Given the description of an element on the screen output the (x, y) to click on. 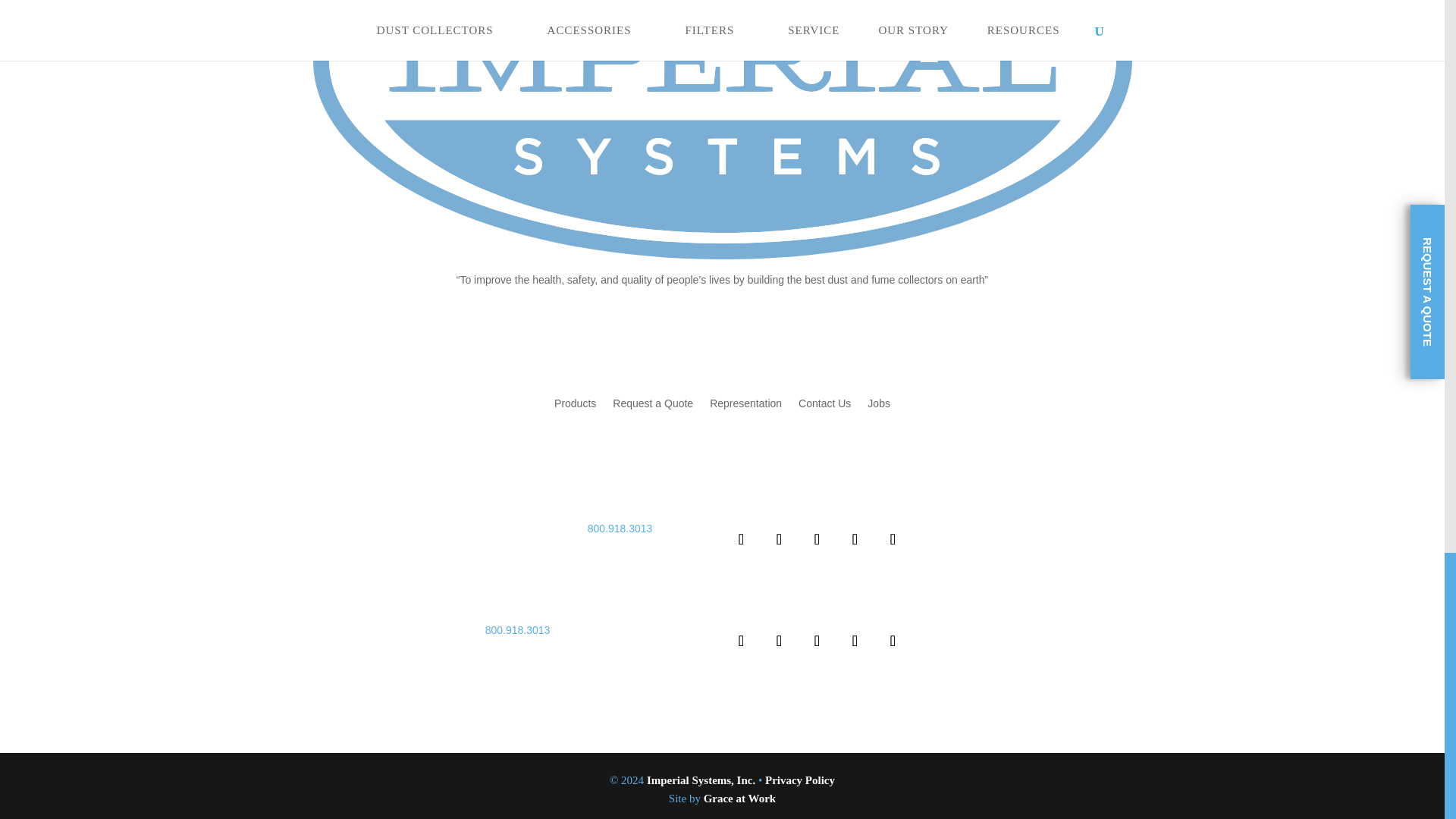
Follow on LinkedIn (816, 640)
Follow on LinkedIn (816, 538)
Follow on Twitter (778, 640)
Follow on Twitter (778, 538)
Follow on Instagram (892, 538)
Follow on Facebook (741, 640)
Follow on Facebook (741, 538)
Follow on Youtube (854, 538)
